Given the description of an element on the screen output the (x, y) to click on. 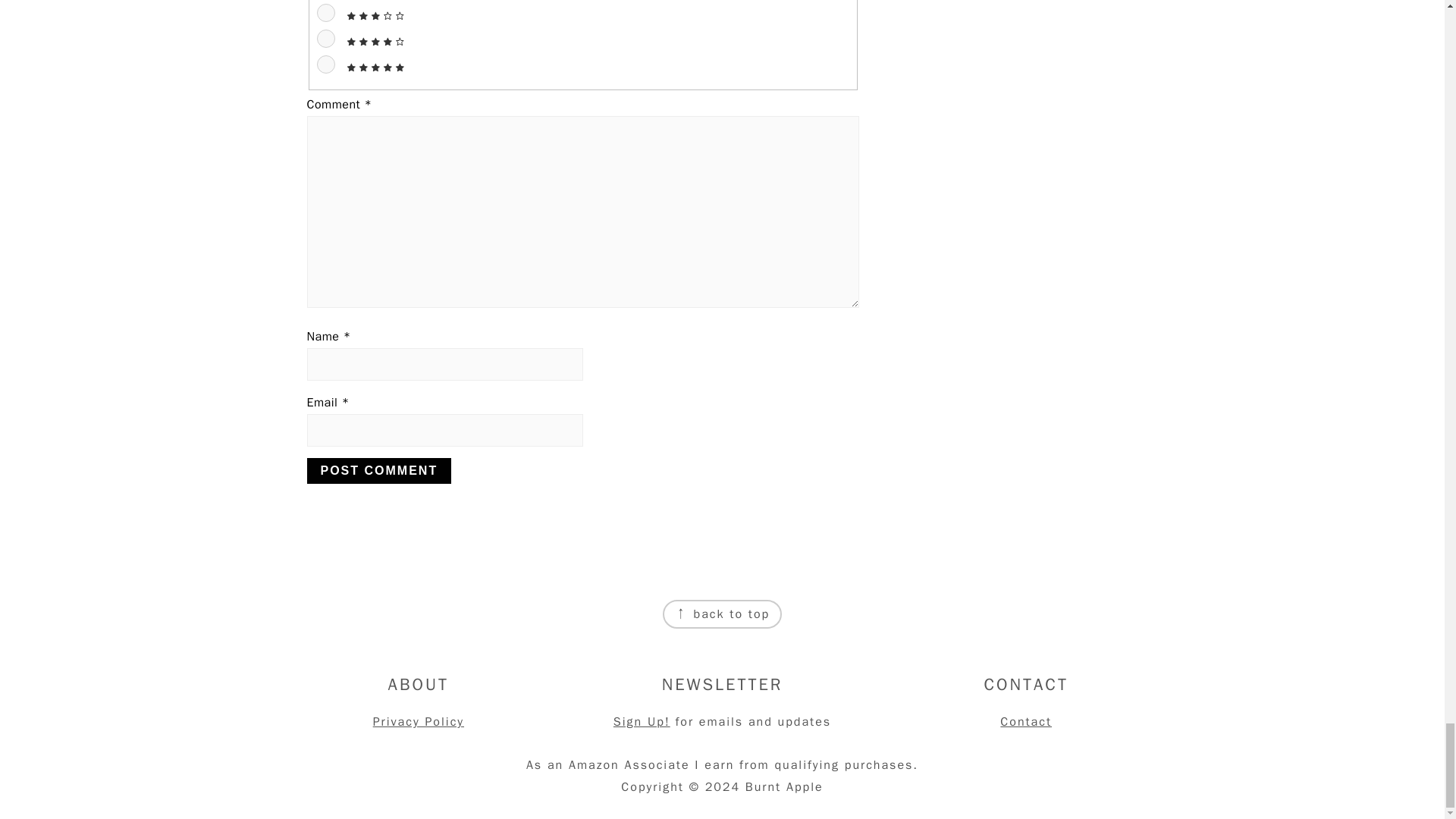
5 (325, 64)
Post Comment (378, 470)
3 (325, 13)
4 (325, 38)
